Given the description of an element on the screen output the (x, y) to click on. 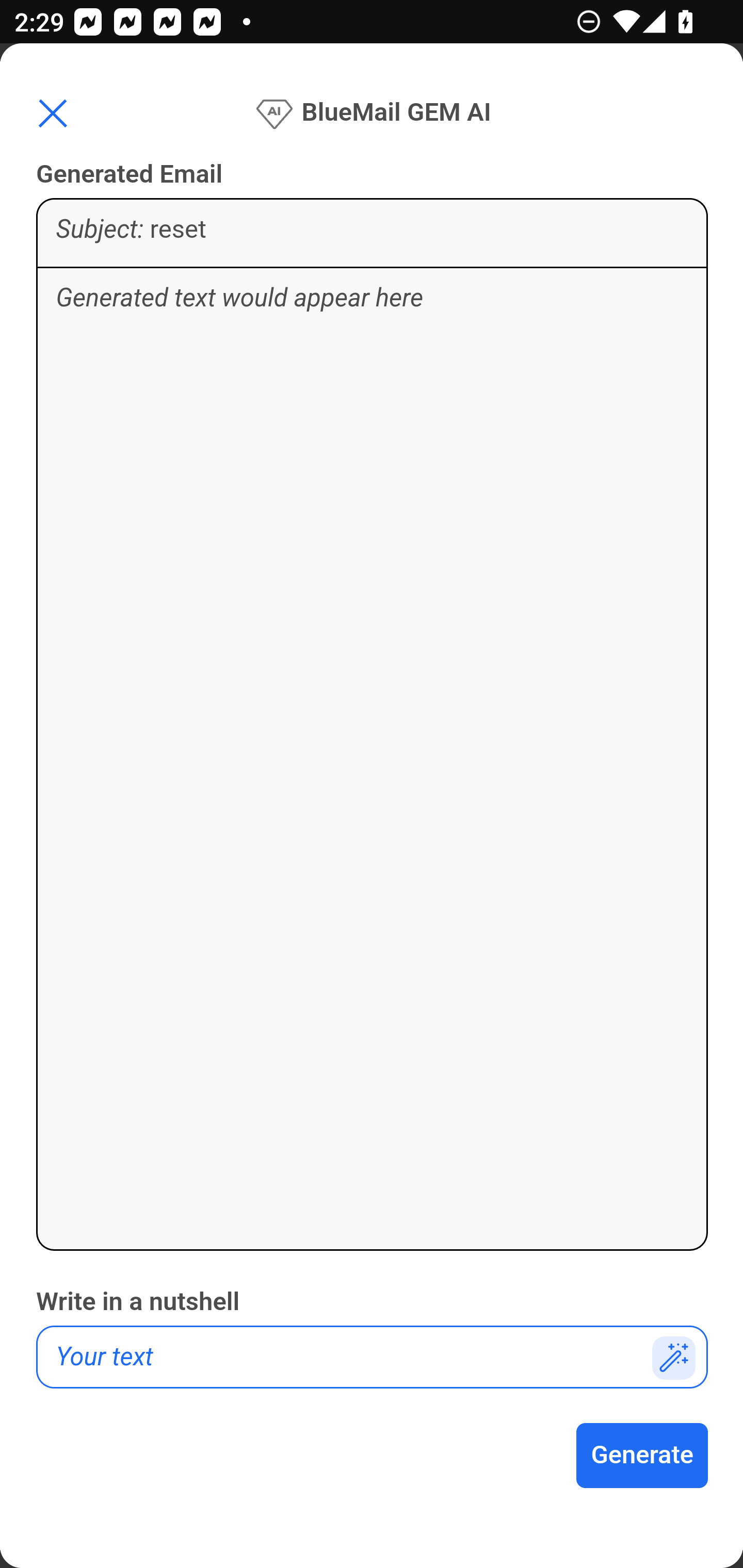
Generate (642, 1455)
